Given the description of an element on the screen output the (x, y) to click on. 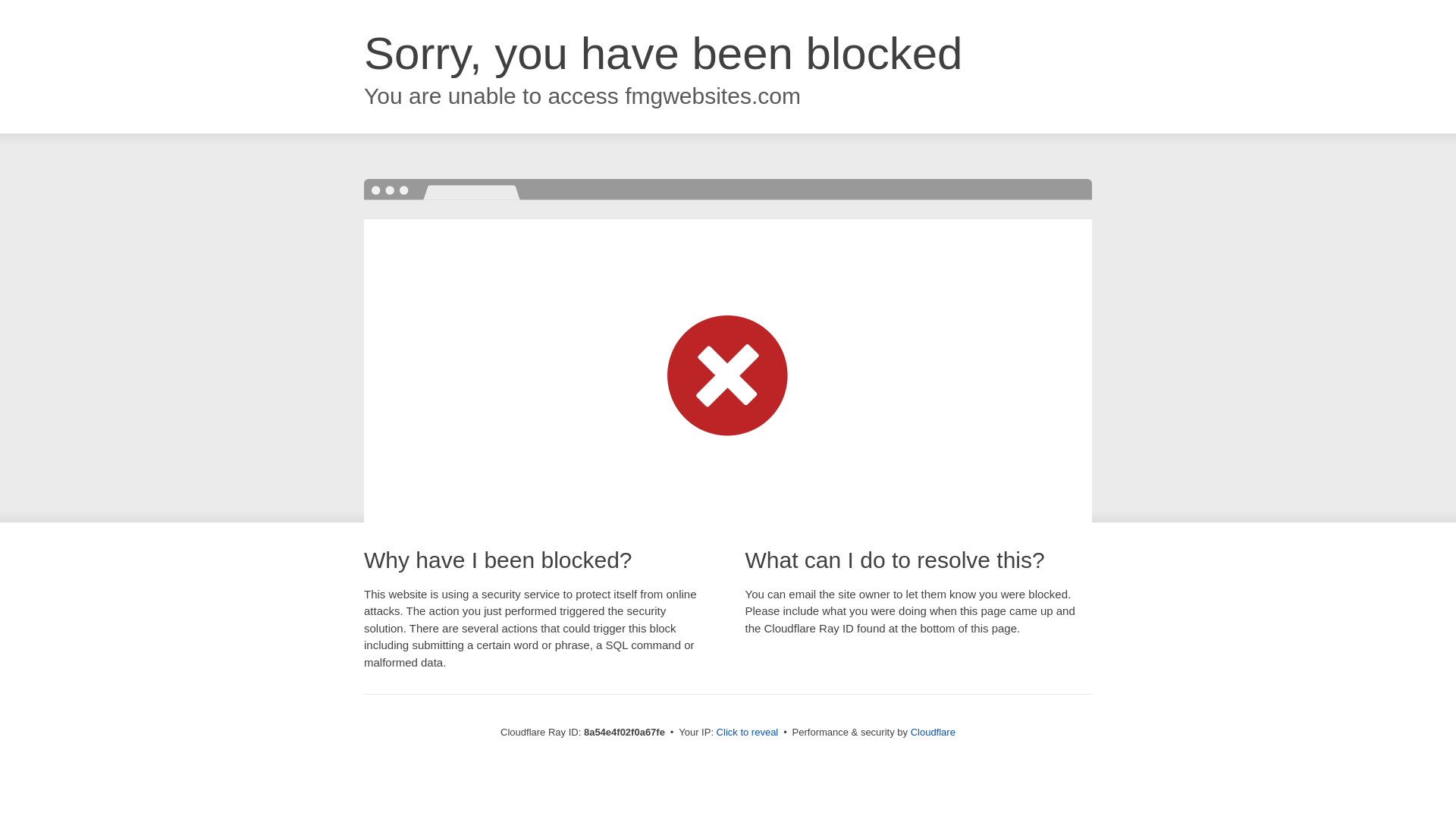
Click to reveal (747, 732)
Cloudflare (933, 731)
